Given the description of an element on the screen output the (x, y) to click on. 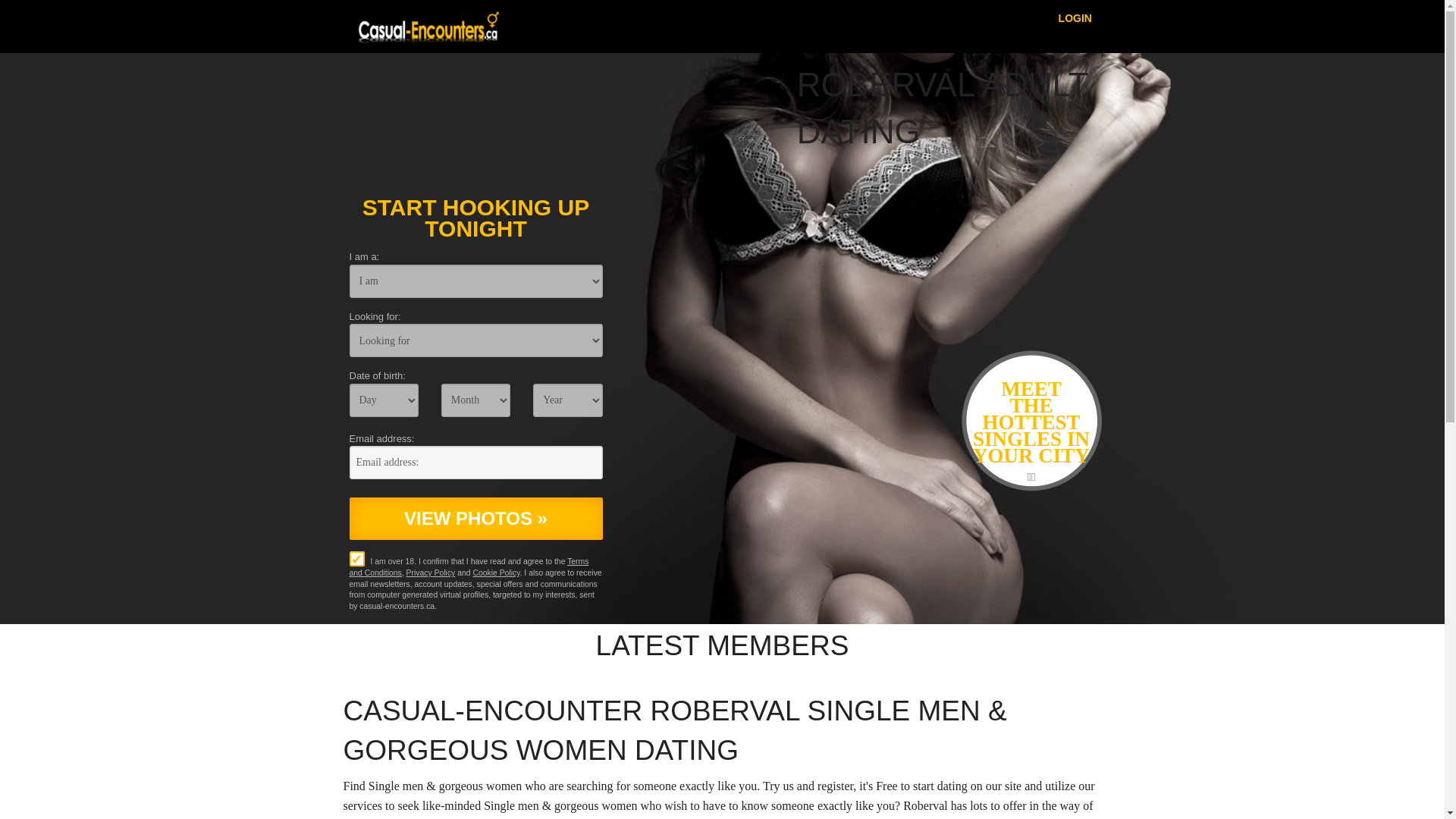
Cookie Policy (495, 572)
Privacy Policy (430, 572)
LOGIN (1074, 17)
Terms and Conditions (468, 567)
